Given the description of an element on the screen output the (x, y) to click on. 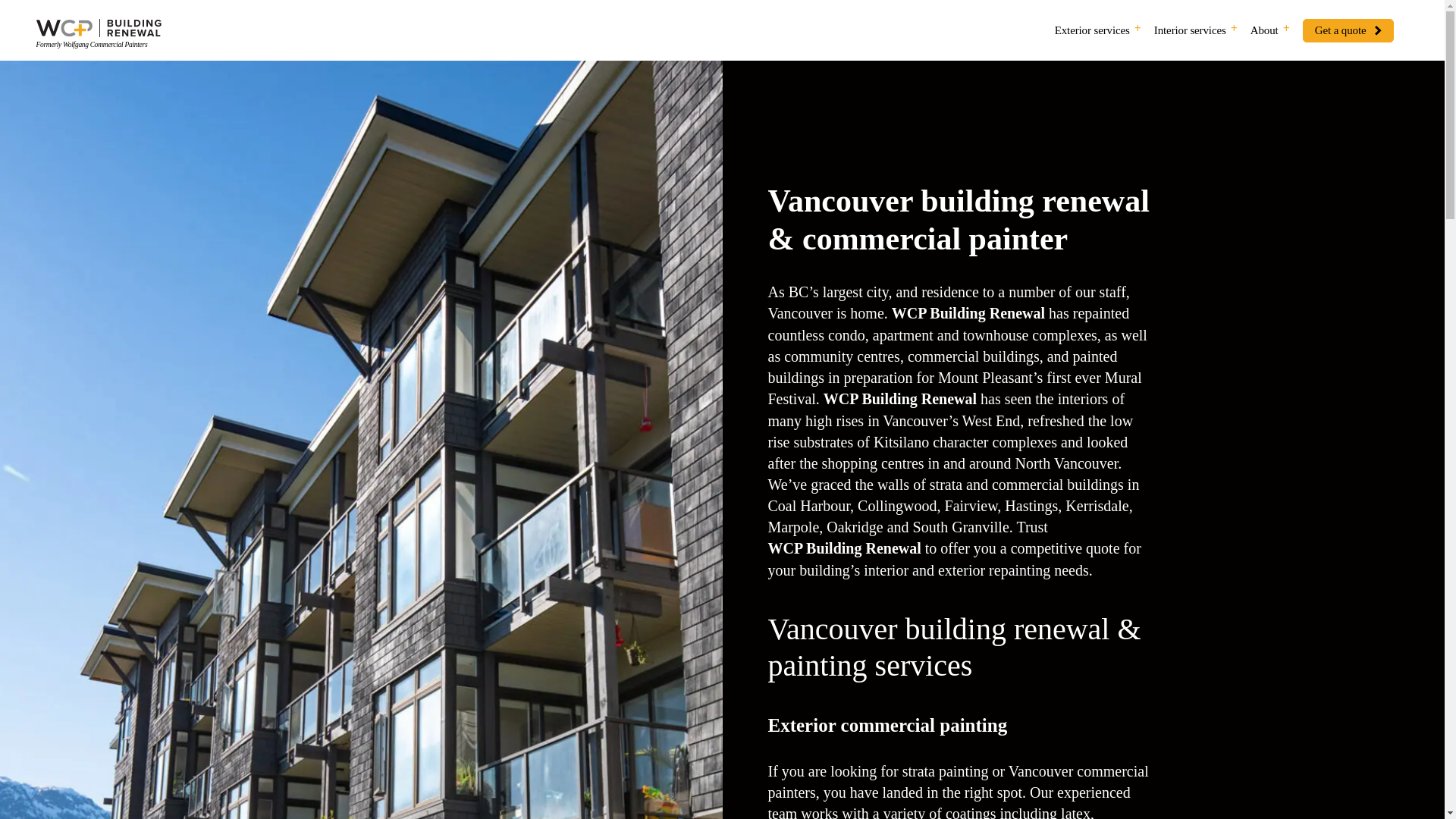
WCP Building Renewal (968, 313)
Get a quote (1348, 29)
WCP Building Renewal (843, 548)
Interior services (1193, 29)
WCP Building Renewal (900, 399)
Exterior services (1095, 29)
Exterior commercial painting (887, 725)
Exterior commercial painting (887, 725)
About (1267, 29)
